Given the description of an element on the screen output the (x, y) to click on. 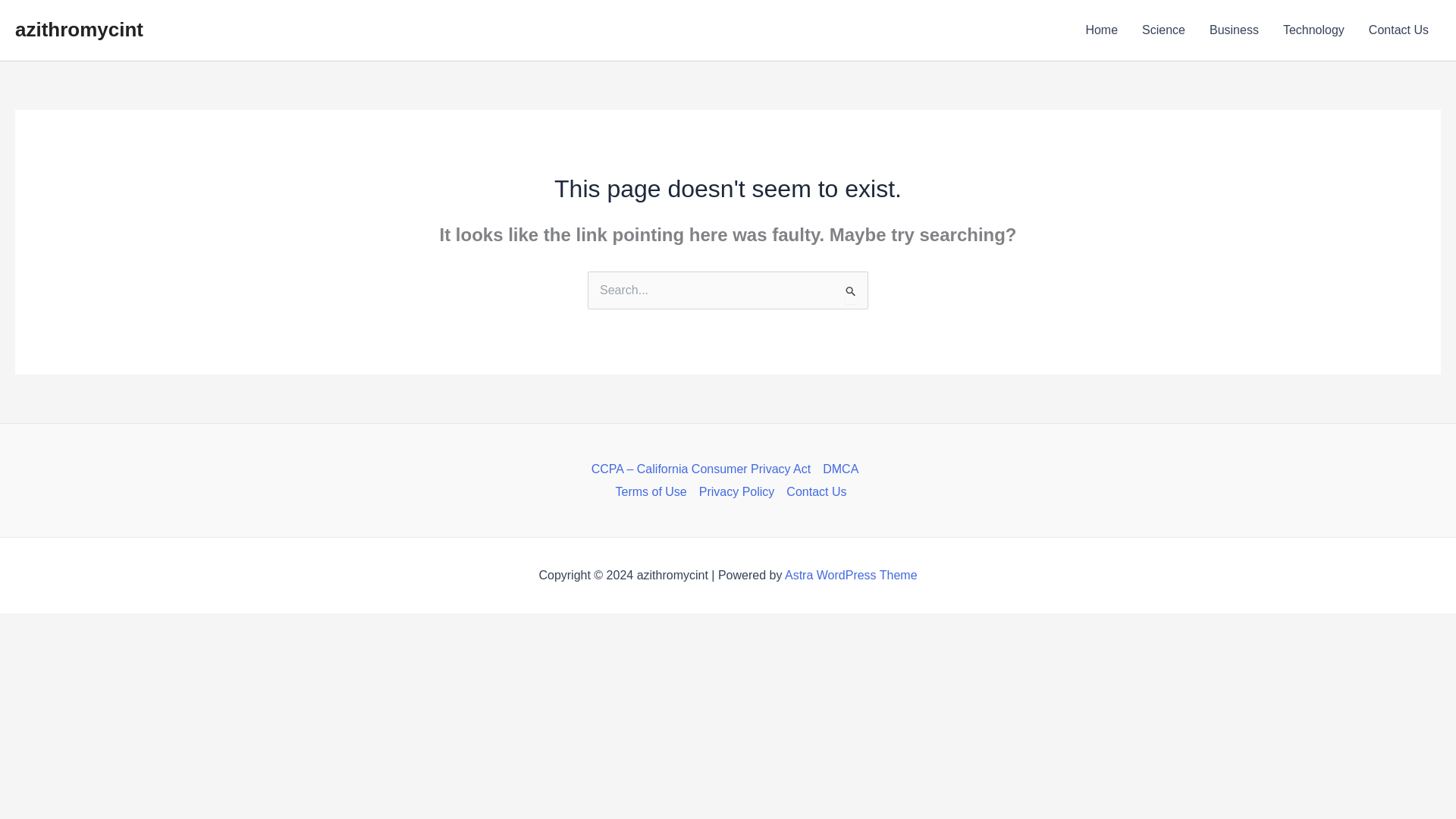
Science (1162, 30)
Astra WordPress Theme (850, 574)
DMCA (840, 468)
Contact Us (1398, 30)
Technology (1313, 30)
azithromycint (78, 29)
Contact Us (812, 491)
Home (1101, 30)
Business (1233, 30)
Terms of Use (651, 491)
